Given the description of an element on the screen output the (x, y) to click on. 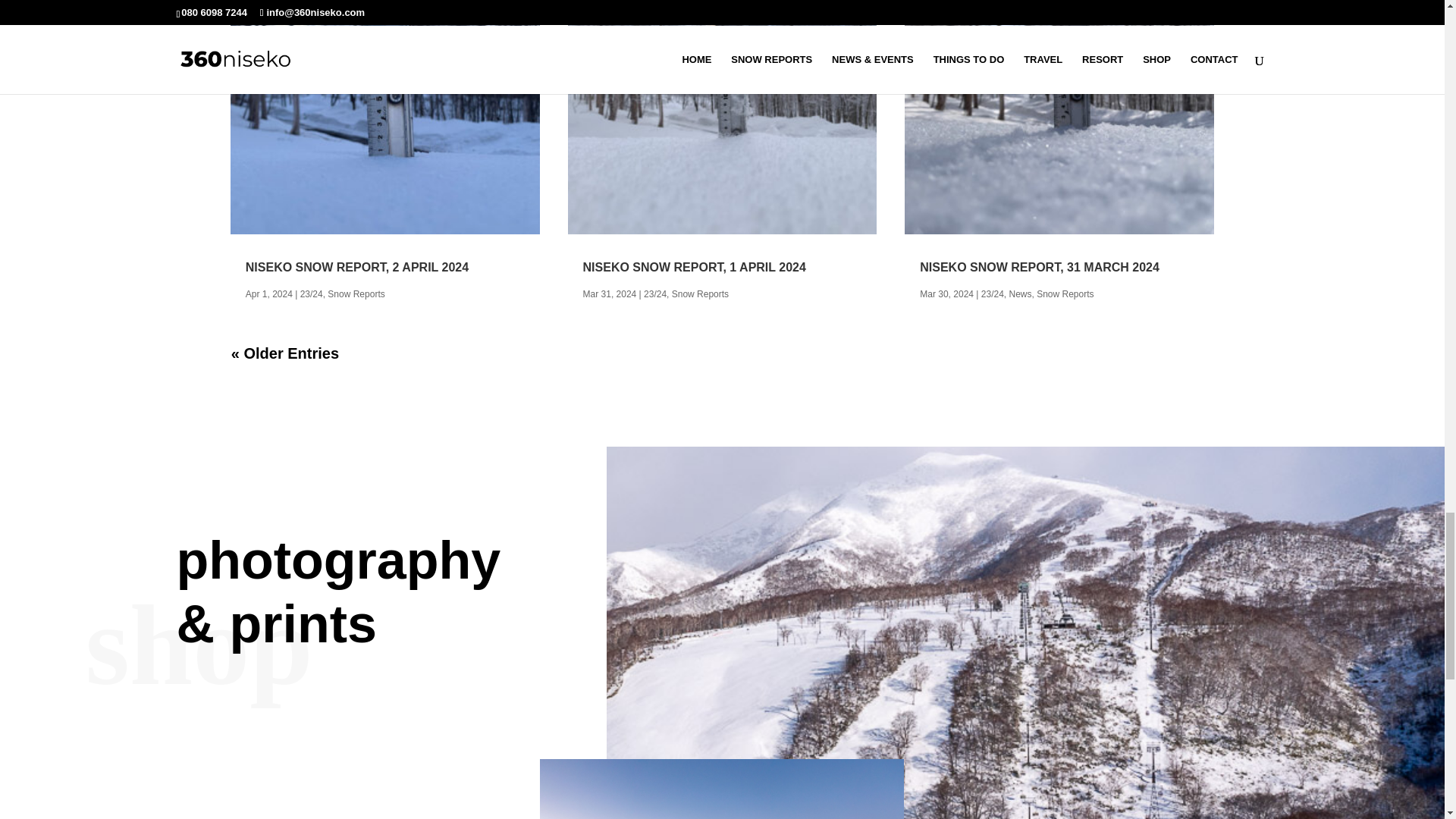
NISEKO SNOW REPORT, 1 APRIL 2024 (694, 267)
NISEKO SNOW REPORT, 2 APRIL 2024 (357, 267)
niseko-2021-12-26 (722, 789)
Snow Reports (355, 294)
Snow Reports (700, 294)
